Given the description of an element on the screen output the (x, y) to click on. 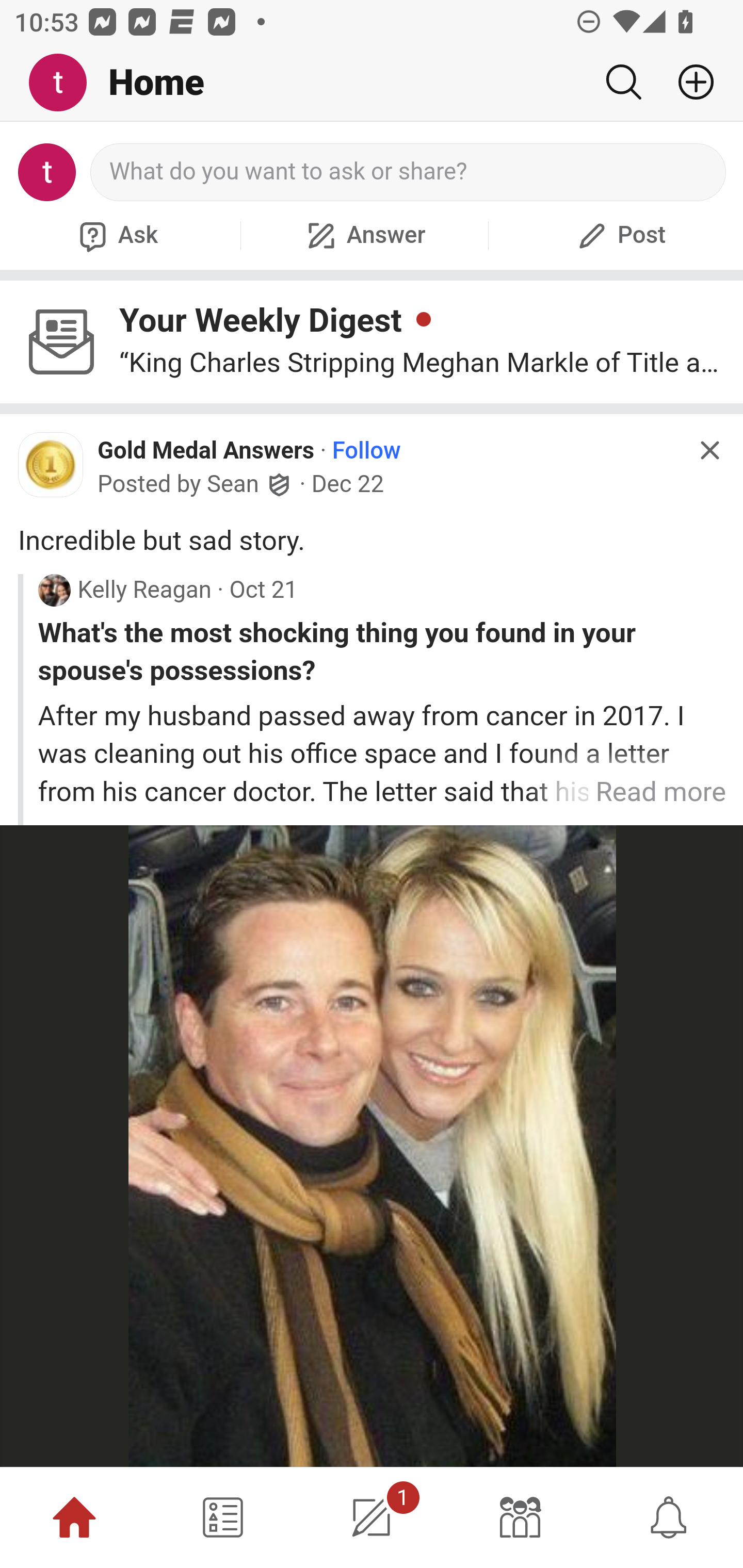
Me (64, 83)
Search (623, 82)
Add (688, 82)
What do you want to ask or share? (408, 172)
Ask (116, 234)
Answer (364, 234)
Post (618, 234)
Hide (709, 449)
Icon for Gold Medal Answers (50, 465)
Gold Medal Answers (206, 450)
Follow (365, 451)
Profile photo for Kelly Reagan (54, 589)
1 (371, 1517)
